Given the description of an element on the screen output the (x, y) to click on. 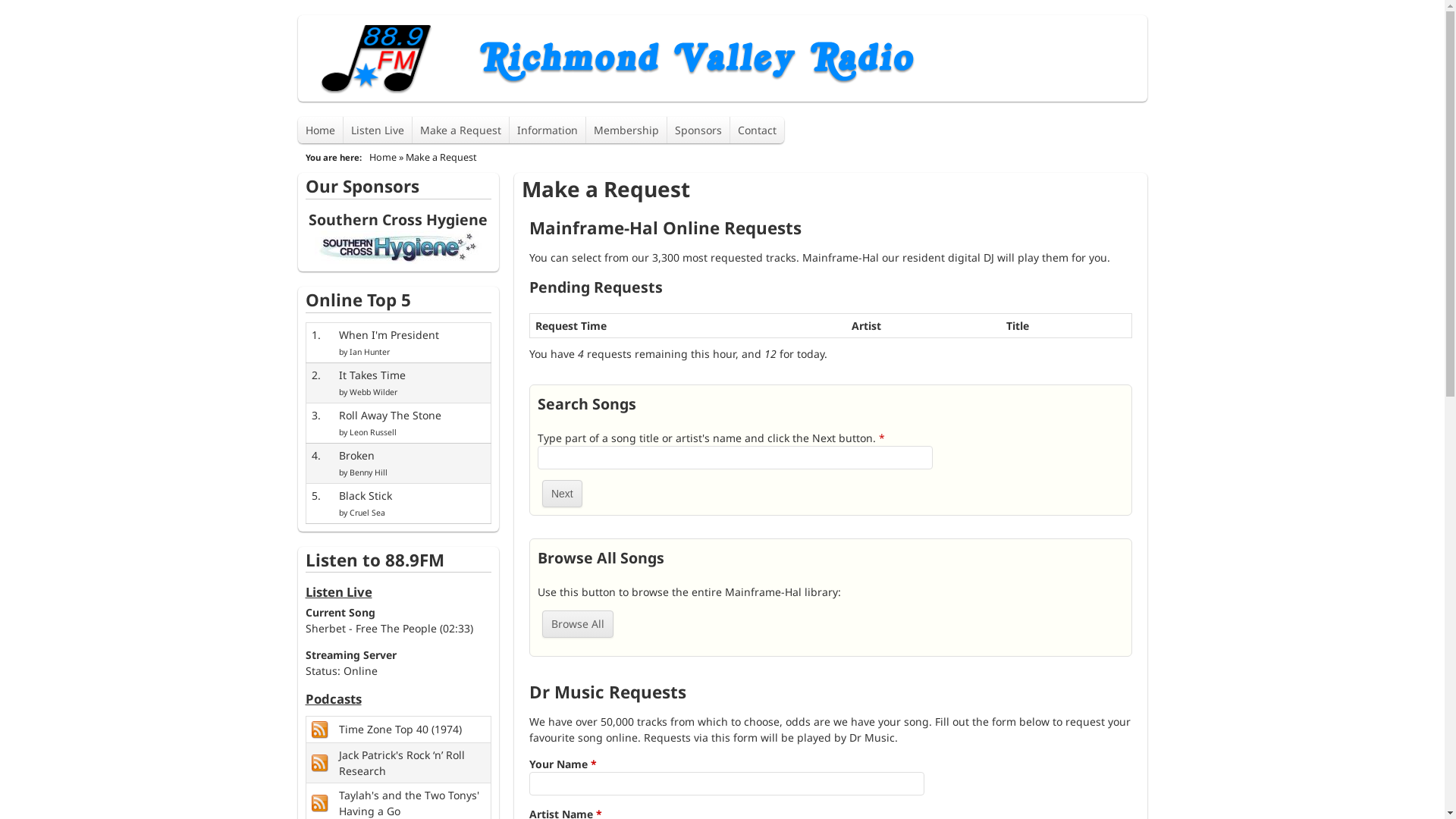
Sponsors Element type: text (698, 129)
Streaming Server
Status: Online Element type: text (349, 662)
Home Element type: text (319, 129)
Browse All Element type: text (577, 623)
Next Element type: text (561, 493)
Taylah's and the Two Tonys' Having a Go Element type: text (408, 802)
Taylah's and the Two Tonys' Having a Go Element type: hover (321, 801)
Skip to main content Element type: text (658, 15)
Make a Request Element type: text (460, 129)
Time Zone Top 40 (1974) Element type: hover (321, 728)
Listen Live Element type: text (376, 129)
Membership Element type: text (625, 129)
Time Zone Top 40 (1974) Element type: text (399, 728)
Contact Element type: text (756, 129)
Current Song
Sherbet - Free The People (02:33) Element type: text (388, 620)
Southern Cross Hygiene Element type: text (397, 219)
Information Element type: text (547, 129)
Home Element type: text (381, 156)
